Given the description of an element on the screen output the (x, y) to click on. 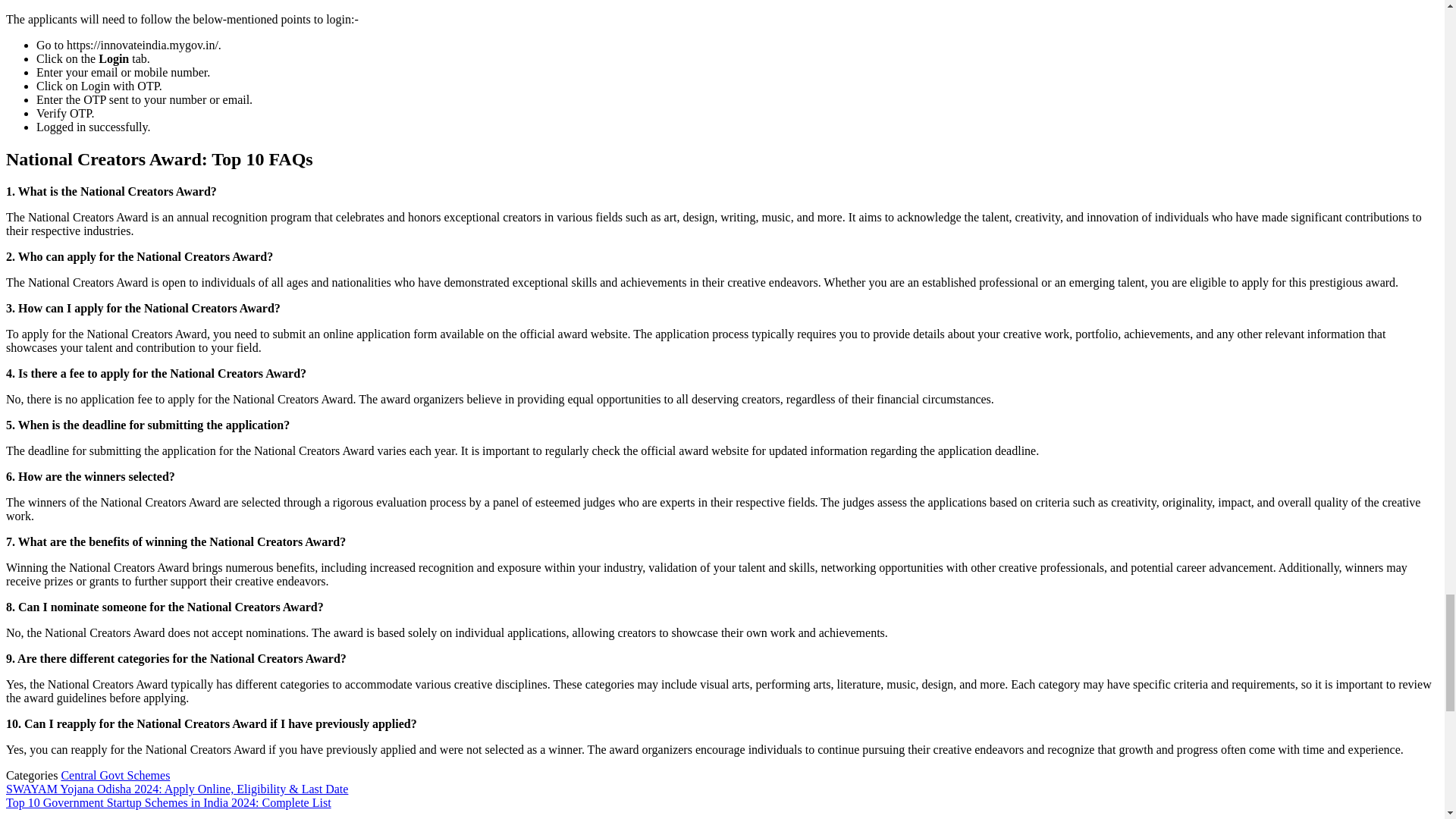
Central Govt Schemes (115, 775)
